Given the description of an element on the screen output the (x, y) to click on. 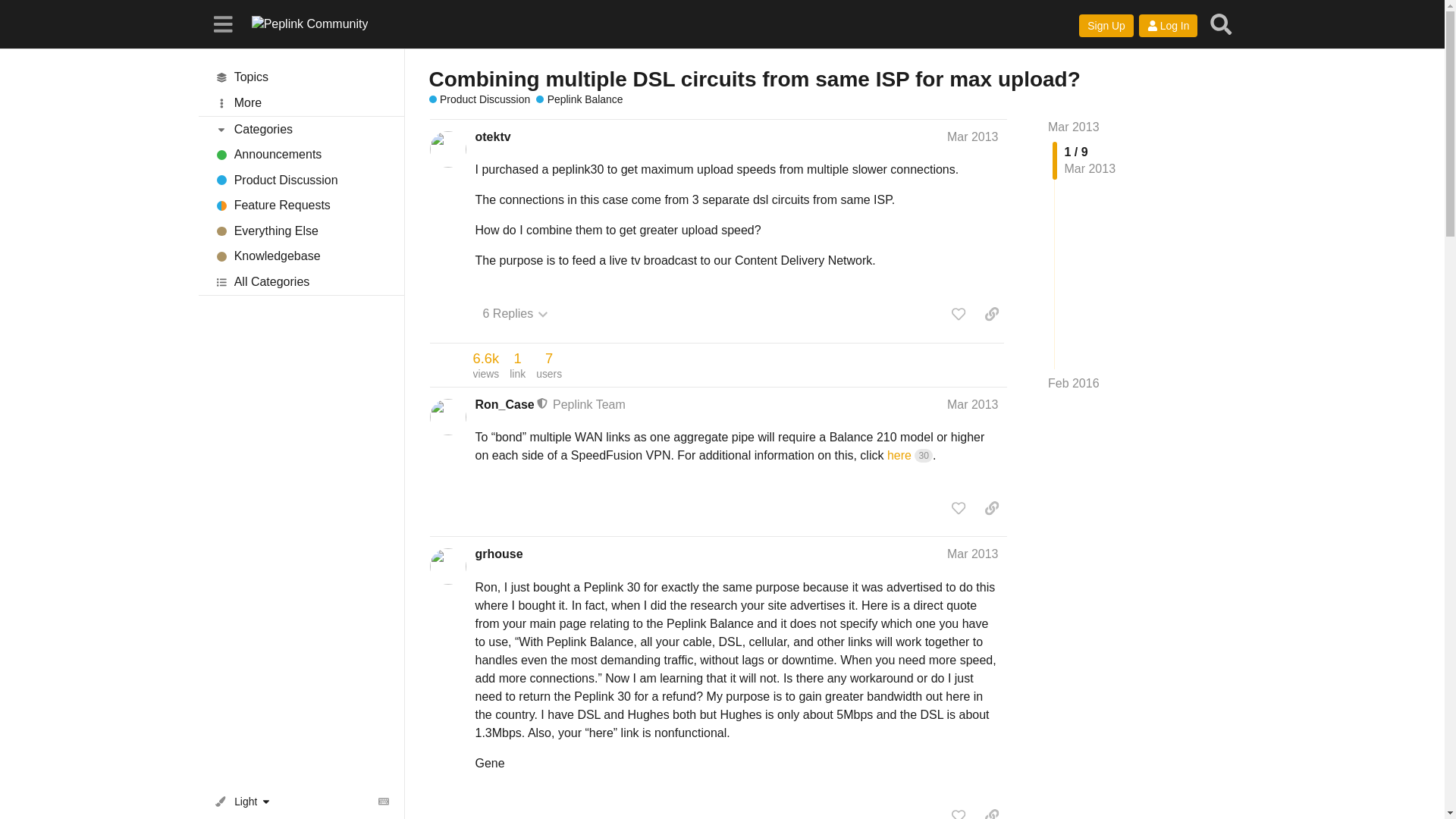
Keyboard Shortcuts (384, 801)
Topics (301, 77)
Log In (1168, 25)
Sign Up (1105, 25)
Everything Else (301, 231)
All Categories (301, 281)
6 Replies (548, 364)
Announcements (515, 313)
